Given the description of an element on the screen output the (x, y) to click on. 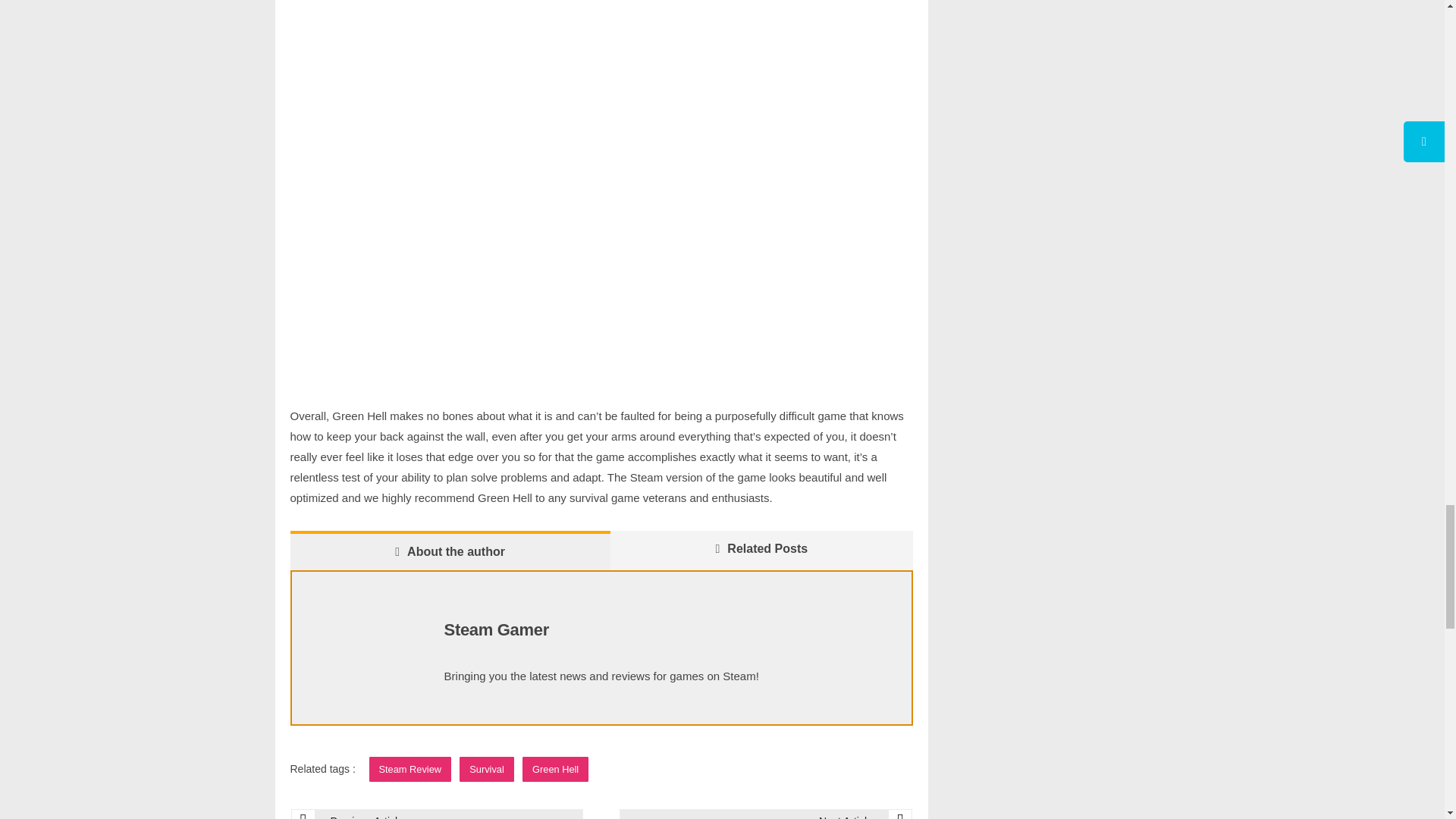
Green Hell (555, 769)
Survival (486, 769)
Steam Review (410, 769)
Steam Gamer (496, 629)
